Given the description of an element on the screen output the (x, y) to click on. 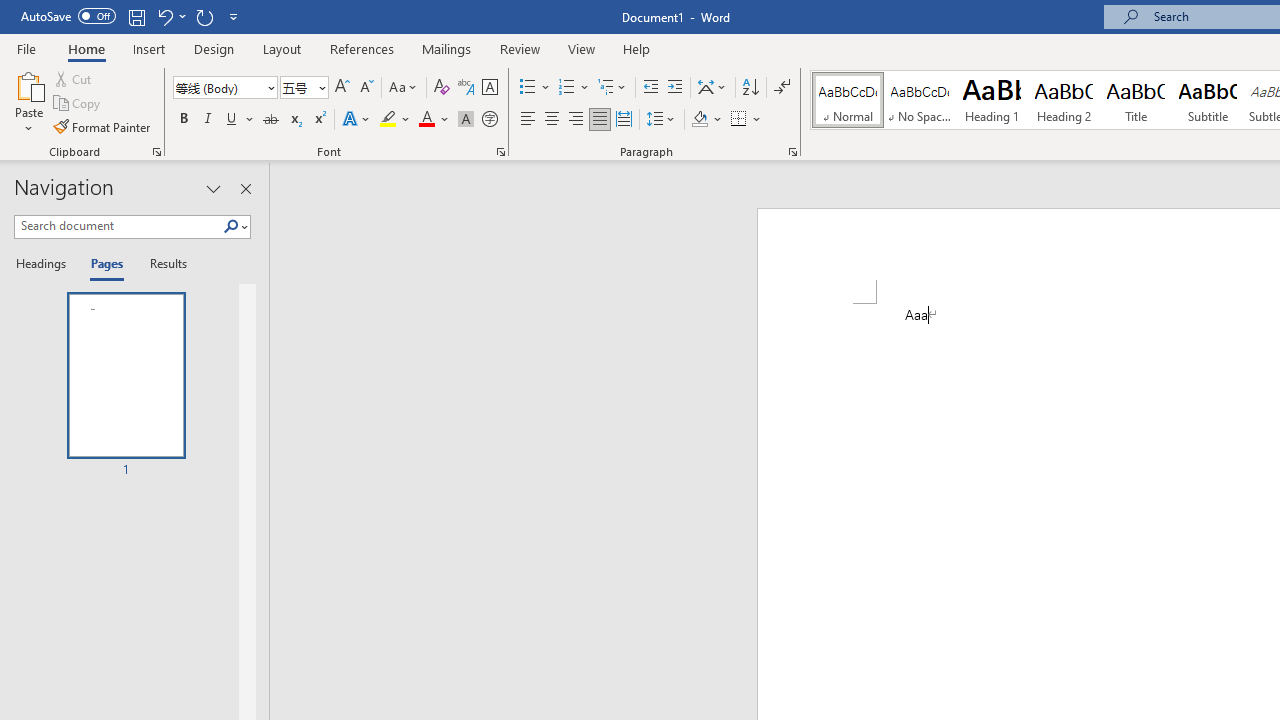
Repeat Increase Indent (204, 15)
